Given the description of an element on the screen output the (x, y) to click on. 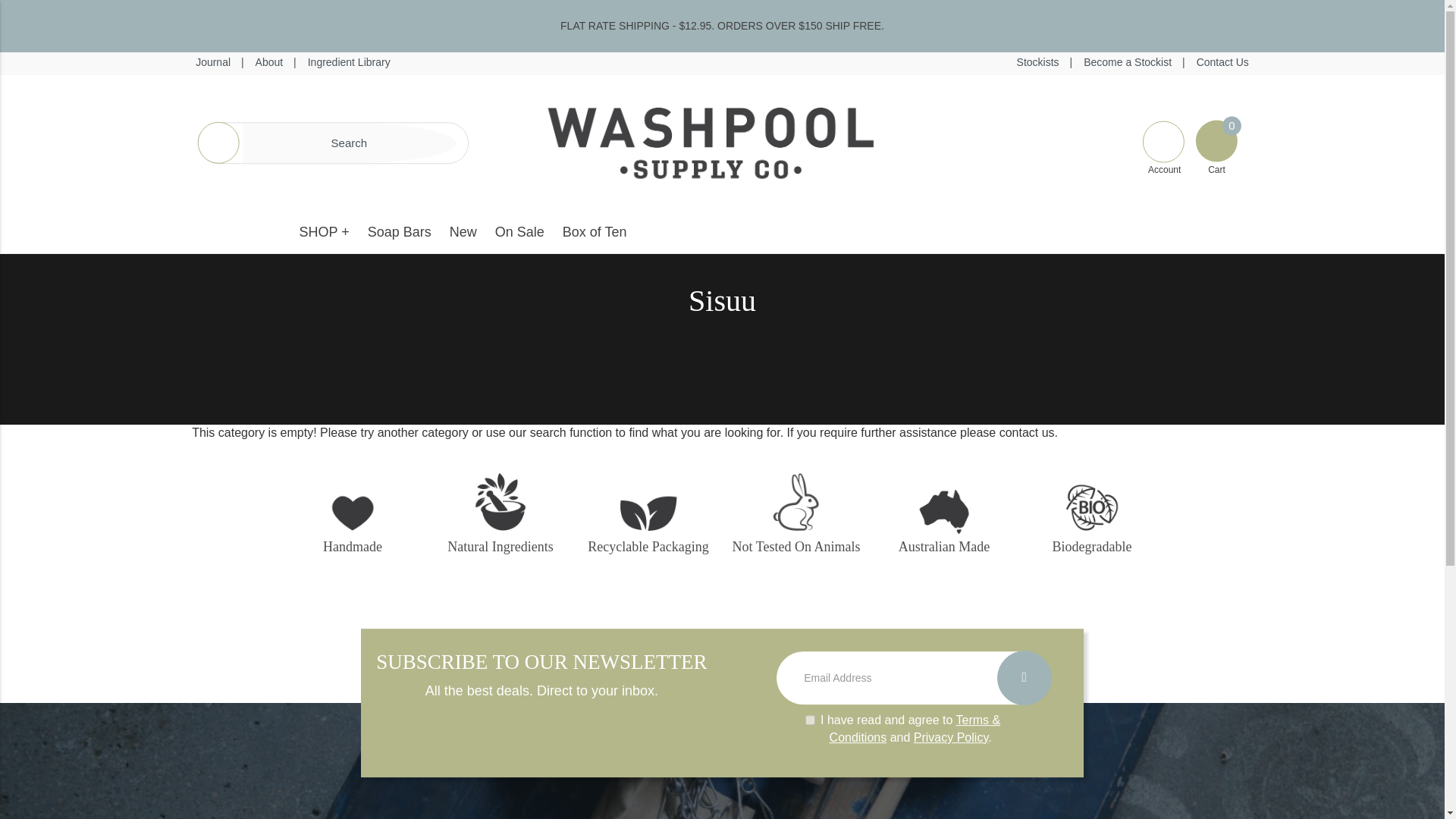
y (810, 719)
Washpool Supply Co. Pty Ltd (710, 141)
